Given the description of an element on the screen output the (x, y) to click on. 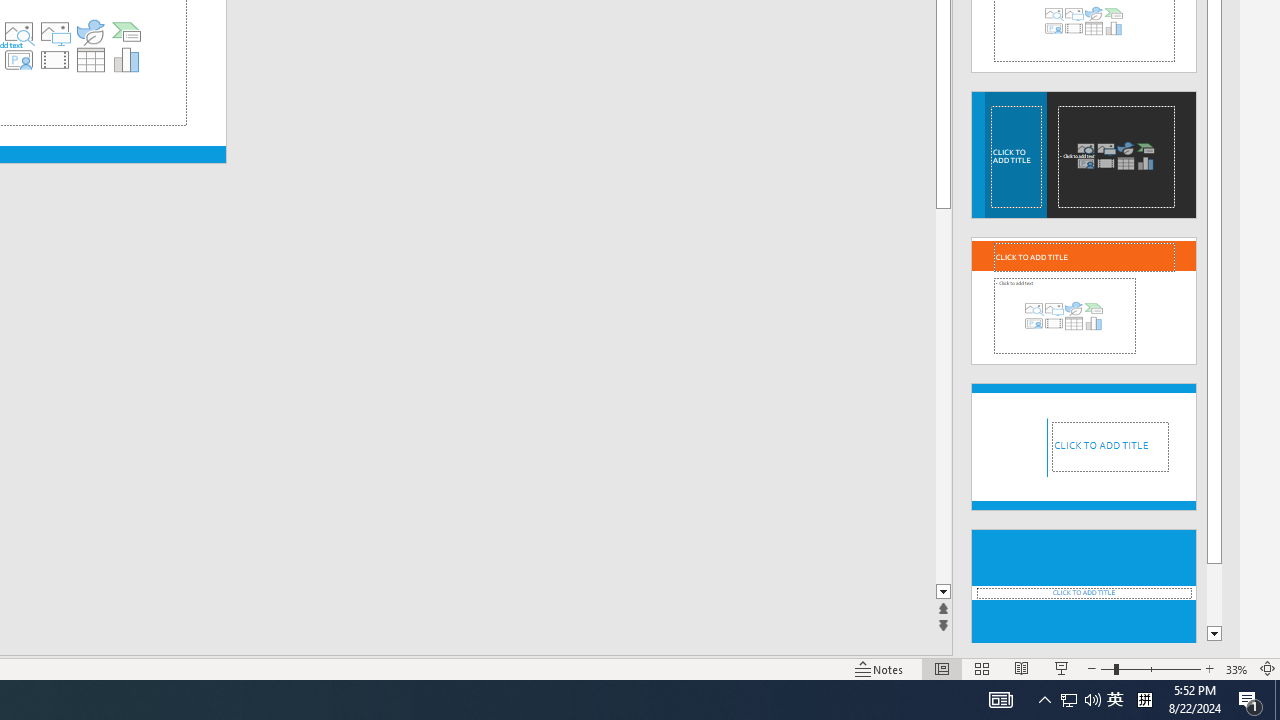
Line down (943, 592)
Stock Images (18, 32)
Insert Chart (127, 60)
Insert an Icon (91, 32)
Page down (943, 395)
Pictures (54, 32)
